Given the description of an element on the screen output the (x, y) to click on. 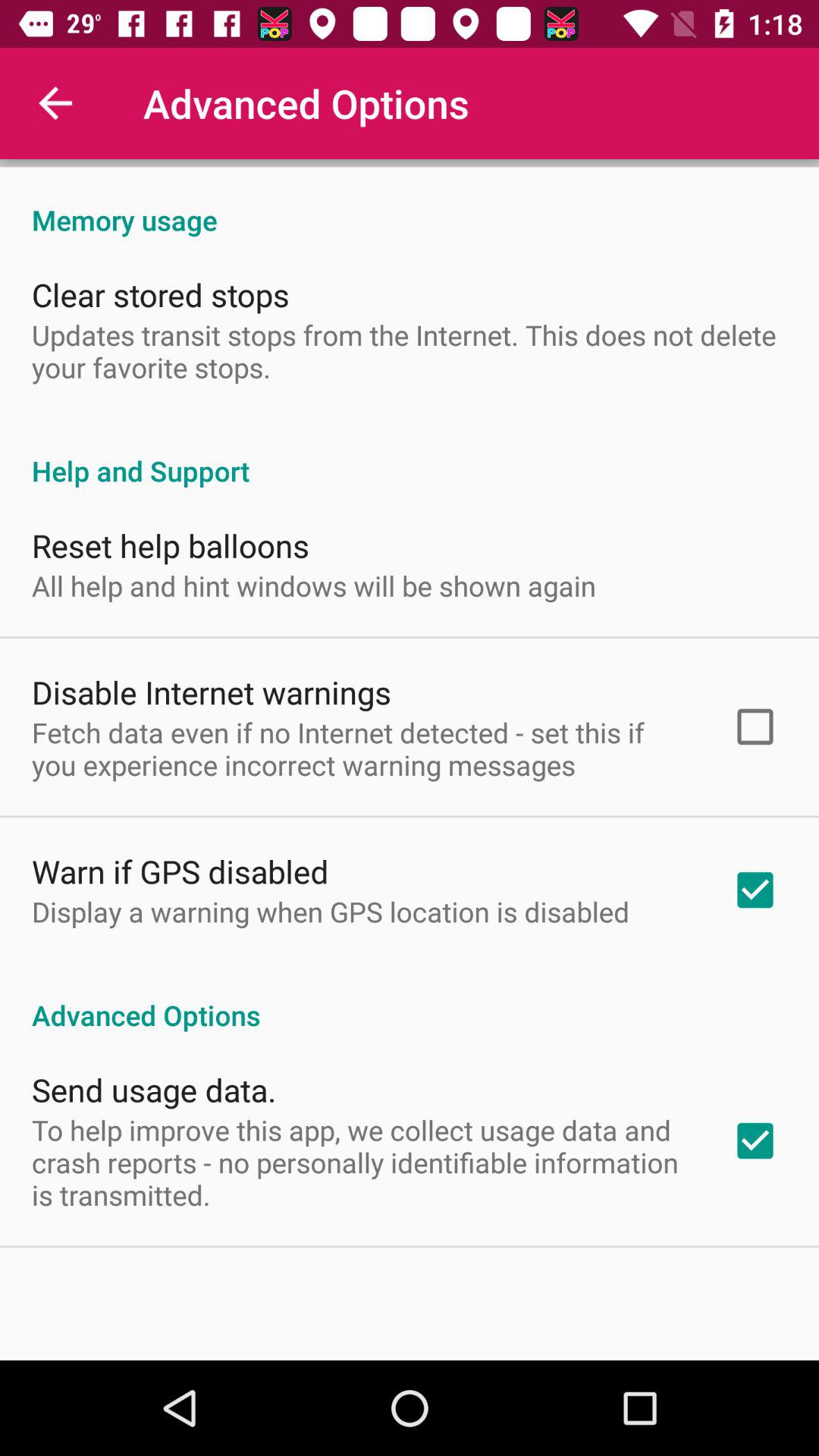
press updates transit stops icon (409, 351)
